Given the description of an element on the screen output the (x, y) to click on. 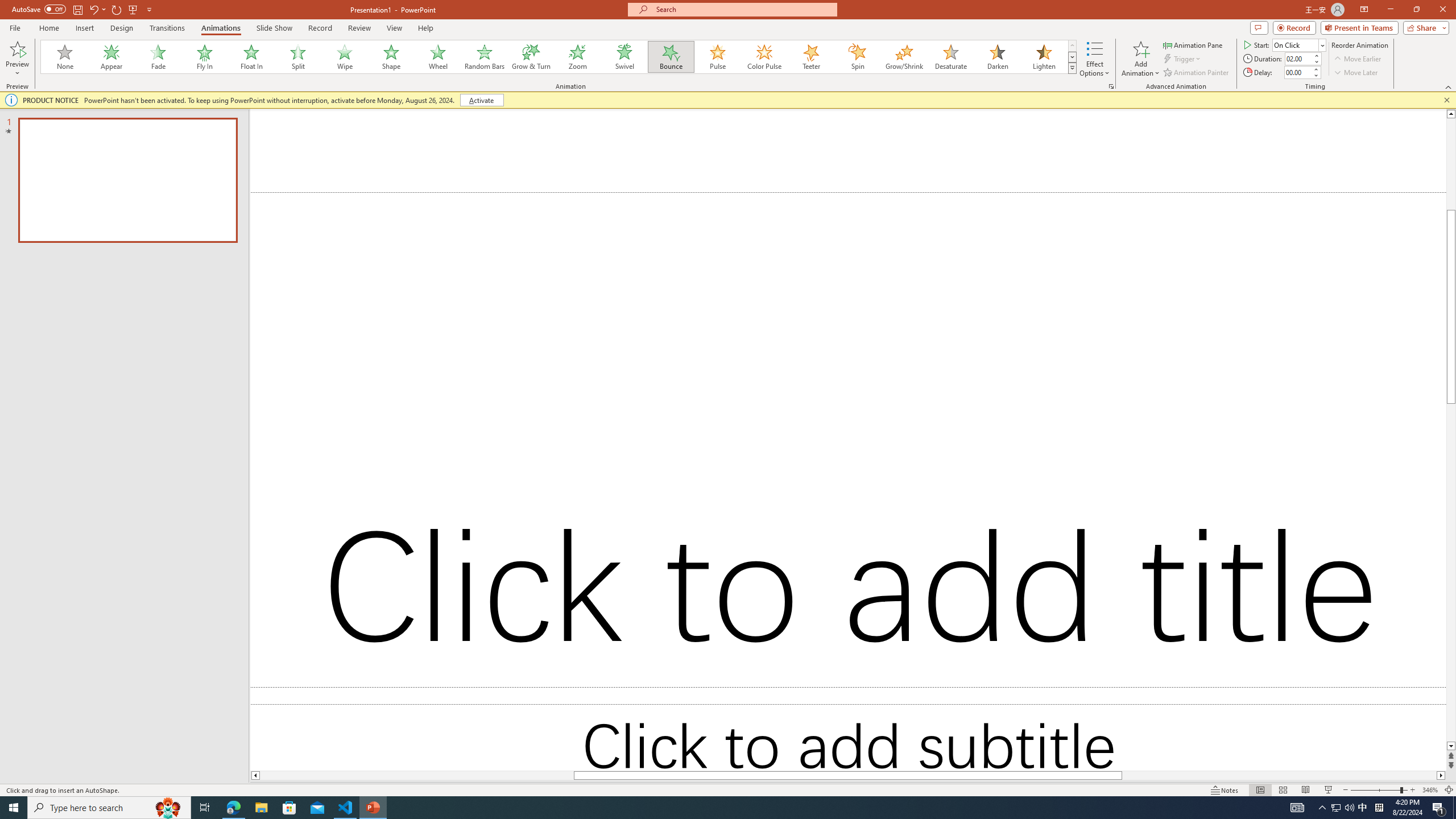
More Options... (1110, 85)
Preview (17, 58)
Review (359, 28)
Insert (83, 28)
Record (320, 28)
Zoom 346% (1430, 790)
Home (48, 28)
Slide Show (1328, 790)
View (395, 28)
Animation Delay (1297, 72)
Less (1315, 75)
Comments (1259, 27)
Reading View (1305, 790)
Class: MsoCommandBar (728, 789)
